Given the description of an element on the screen output the (x, y) to click on. 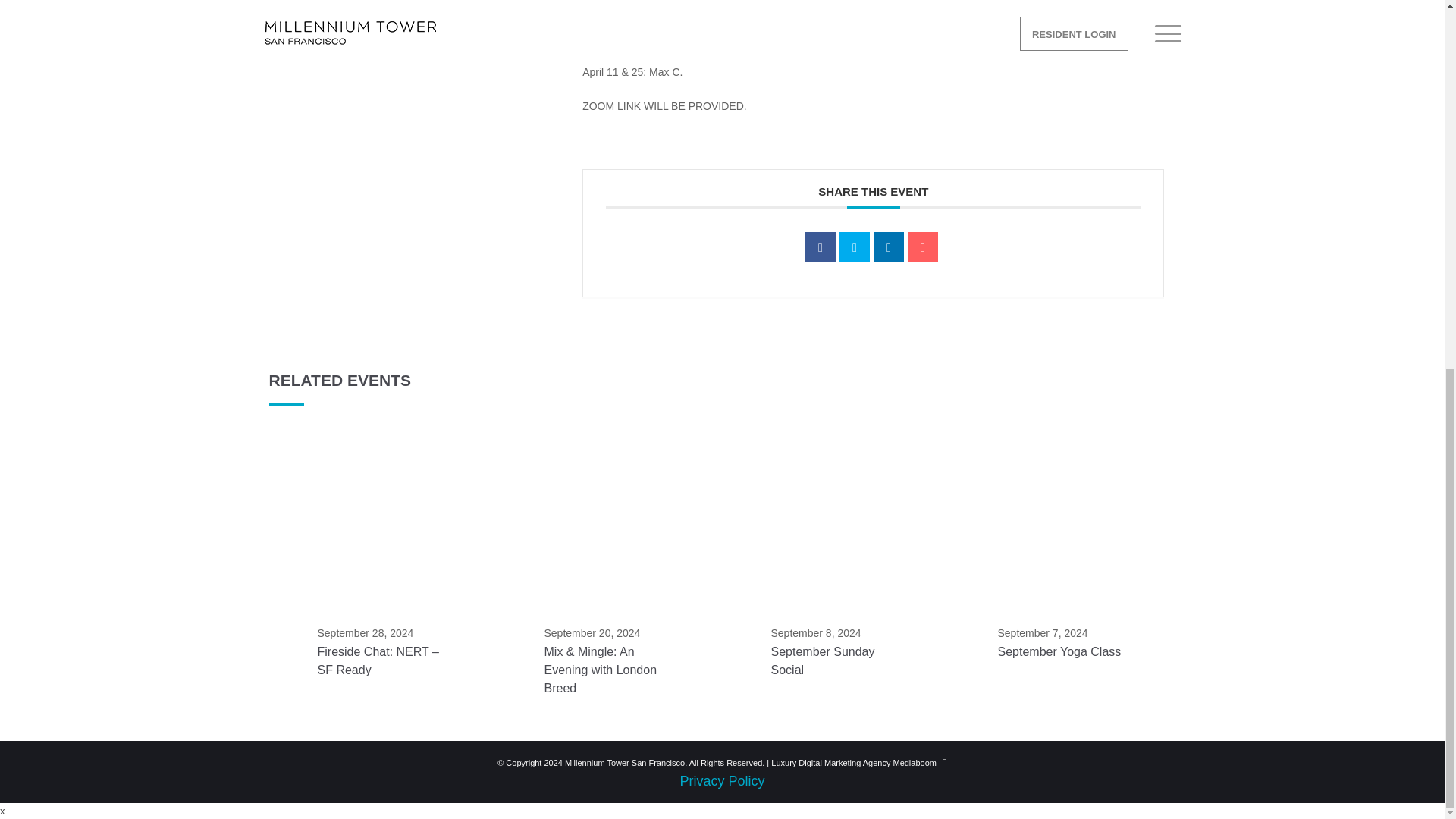
Email (922, 246)
Tweet (854, 246)
September Sunday Social (822, 660)
September Yoga Class (1059, 651)
Linkedin (888, 246)
Share on Facebook (820, 246)
Privacy Policy (721, 780)
Luxury Digital Marketing Agency Mediaboom (853, 762)
